Given the description of an element on the screen output the (x, y) to click on. 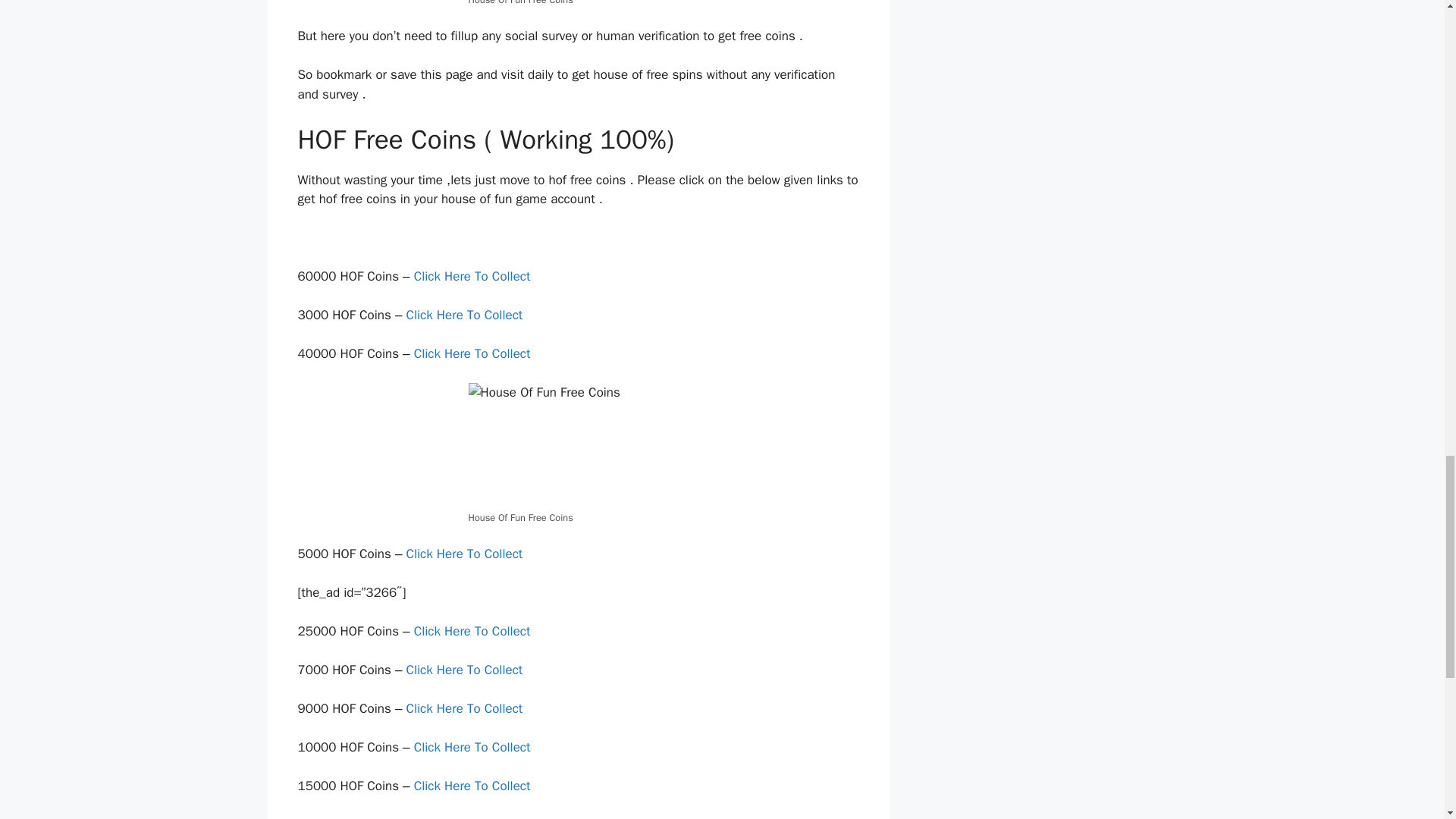
Click Here To Collect  (473, 276)
Click Here To Collect  (465, 553)
Click Here To Collect  (473, 353)
Click Here To Collect  (473, 785)
Click Here To Collect  (473, 631)
Click Here To Collect  (465, 708)
Click Here To Collect  (465, 669)
Click Here To Collect  (473, 747)
Click Here To Collect (464, 314)
